Given the description of an element on the screen output the (x, y) to click on. 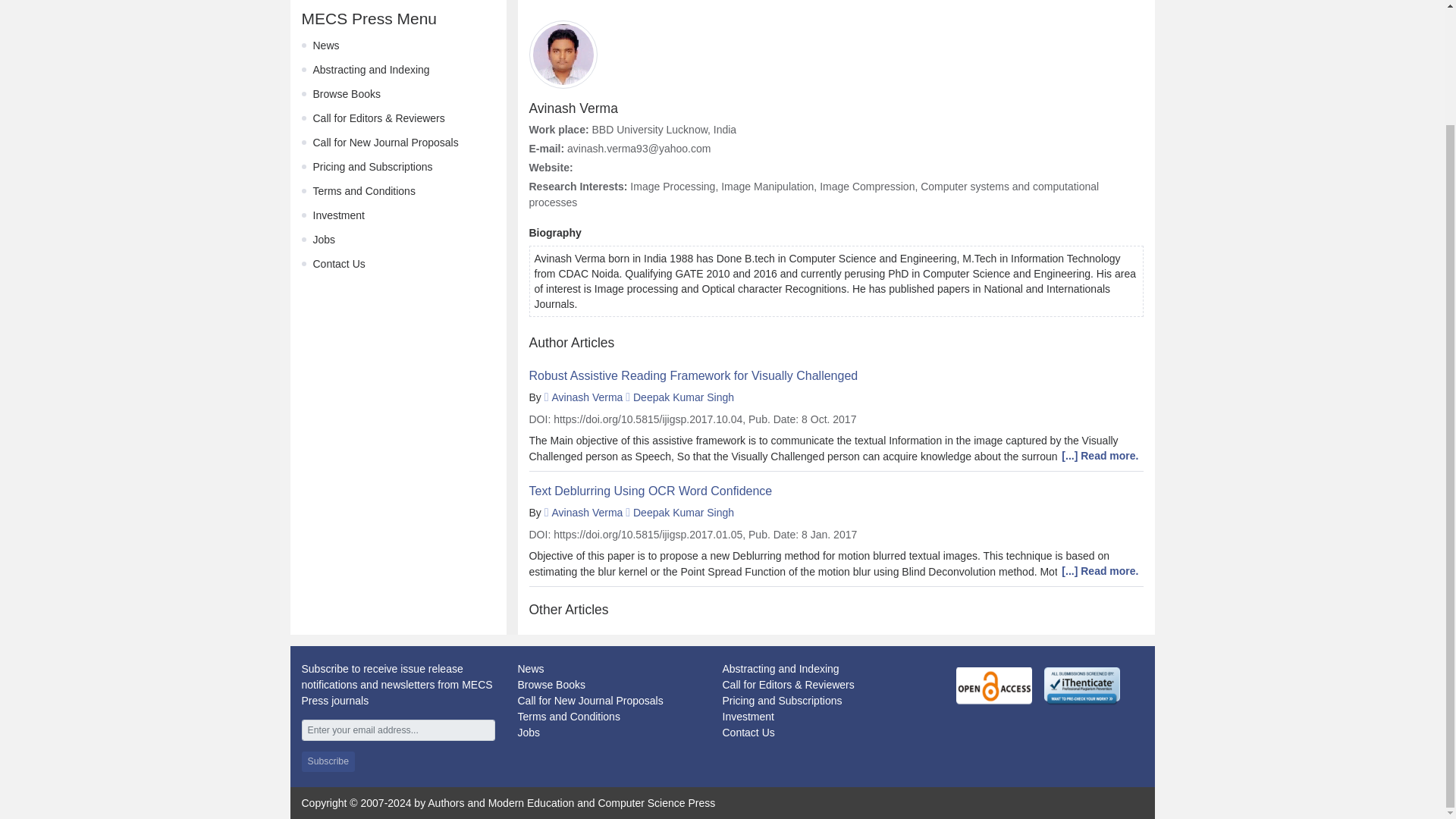
Abstracting and Indexing (780, 668)
Deepak Kumar Singh (683, 397)
Subscribe (328, 761)
News (326, 45)
Contact Us (339, 263)
Investment (747, 716)
Deepak Kumar Singh (683, 512)
Avinash Verma (587, 512)
Pricing and Subscriptions (781, 700)
Call for New Journal Proposals (385, 142)
